Given the description of an element on the screen output the (x, y) to click on. 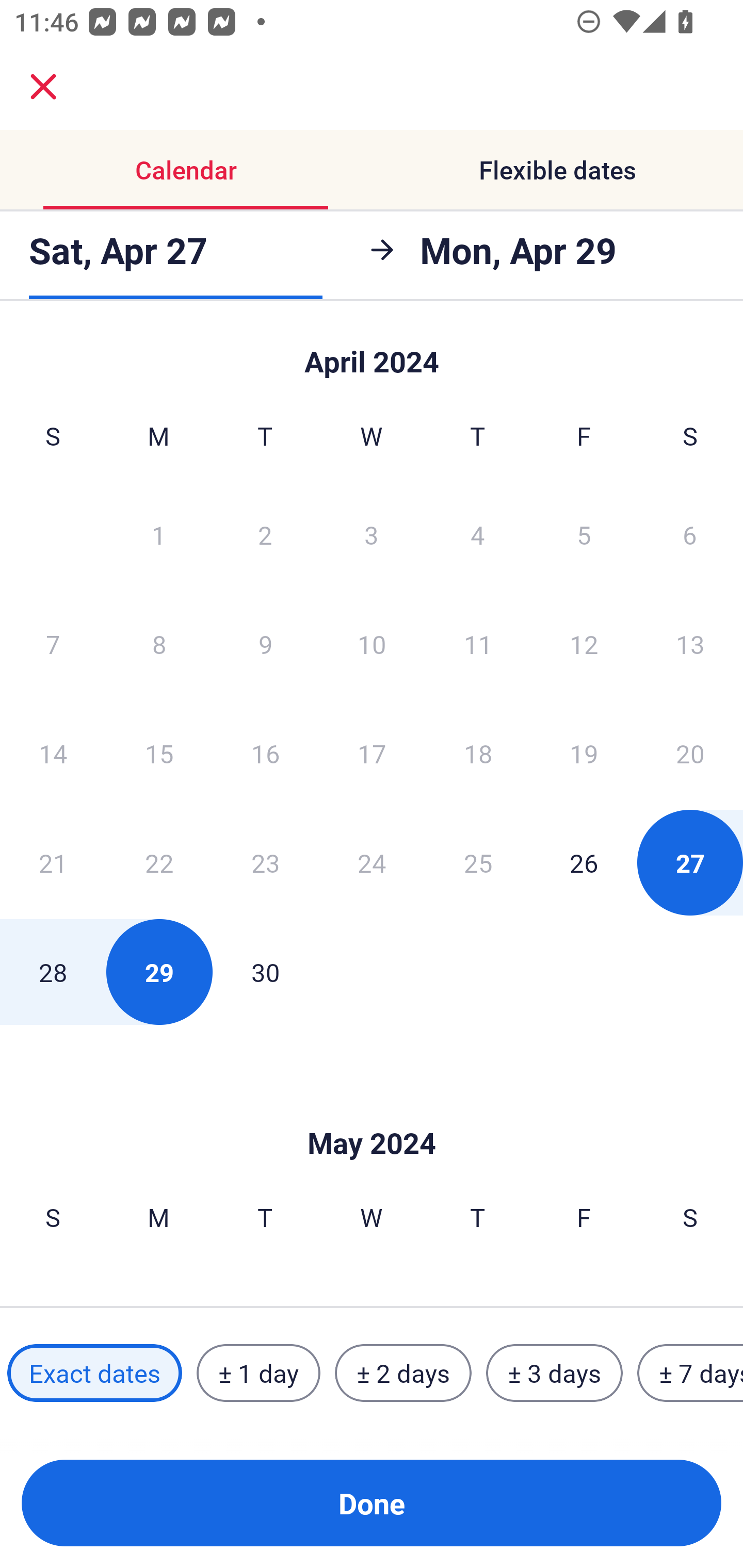
close. (43, 86)
Flexible dates (557, 170)
Skip to Done (371, 352)
1 Monday, April 1, 2024 (158, 534)
2 Tuesday, April 2, 2024 (264, 534)
3 Wednesday, April 3, 2024 (371, 534)
4 Thursday, April 4, 2024 (477, 534)
5 Friday, April 5, 2024 (583, 534)
6 Saturday, April 6, 2024 (689, 534)
7 Sunday, April 7, 2024 (53, 643)
8 Monday, April 8, 2024 (159, 643)
9 Tuesday, April 9, 2024 (265, 643)
10 Wednesday, April 10, 2024 (371, 643)
11 Thursday, April 11, 2024 (477, 643)
12 Friday, April 12, 2024 (584, 643)
13 Saturday, April 13, 2024 (690, 643)
14 Sunday, April 14, 2024 (53, 752)
15 Monday, April 15, 2024 (159, 752)
16 Tuesday, April 16, 2024 (265, 752)
17 Wednesday, April 17, 2024 (371, 752)
18 Thursday, April 18, 2024 (477, 752)
19 Friday, April 19, 2024 (584, 752)
20 Saturday, April 20, 2024 (690, 752)
21 Sunday, April 21, 2024 (53, 862)
22 Monday, April 22, 2024 (159, 862)
23 Tuesday, April 23, 2024 (265, 862)
24 Wednesday, April 24, 2024 (371, 862)
25 Thursday, April 25, 2024 (477, 862)
26 Friday, April 26, 2024 (584, 862)
30 Tuesday, April 30, 2024 (265, 971)
Skip to Done (371, 1112)
Exact dates (94, 1372)
± 1 day (258, 1372)
± 2 days (403, 1372)
± 3 days (553, 1372)
± 7 days (690, 1372)
Done (371, 1502)
